Given the description of an element on the screen output the (x, y) to click on. 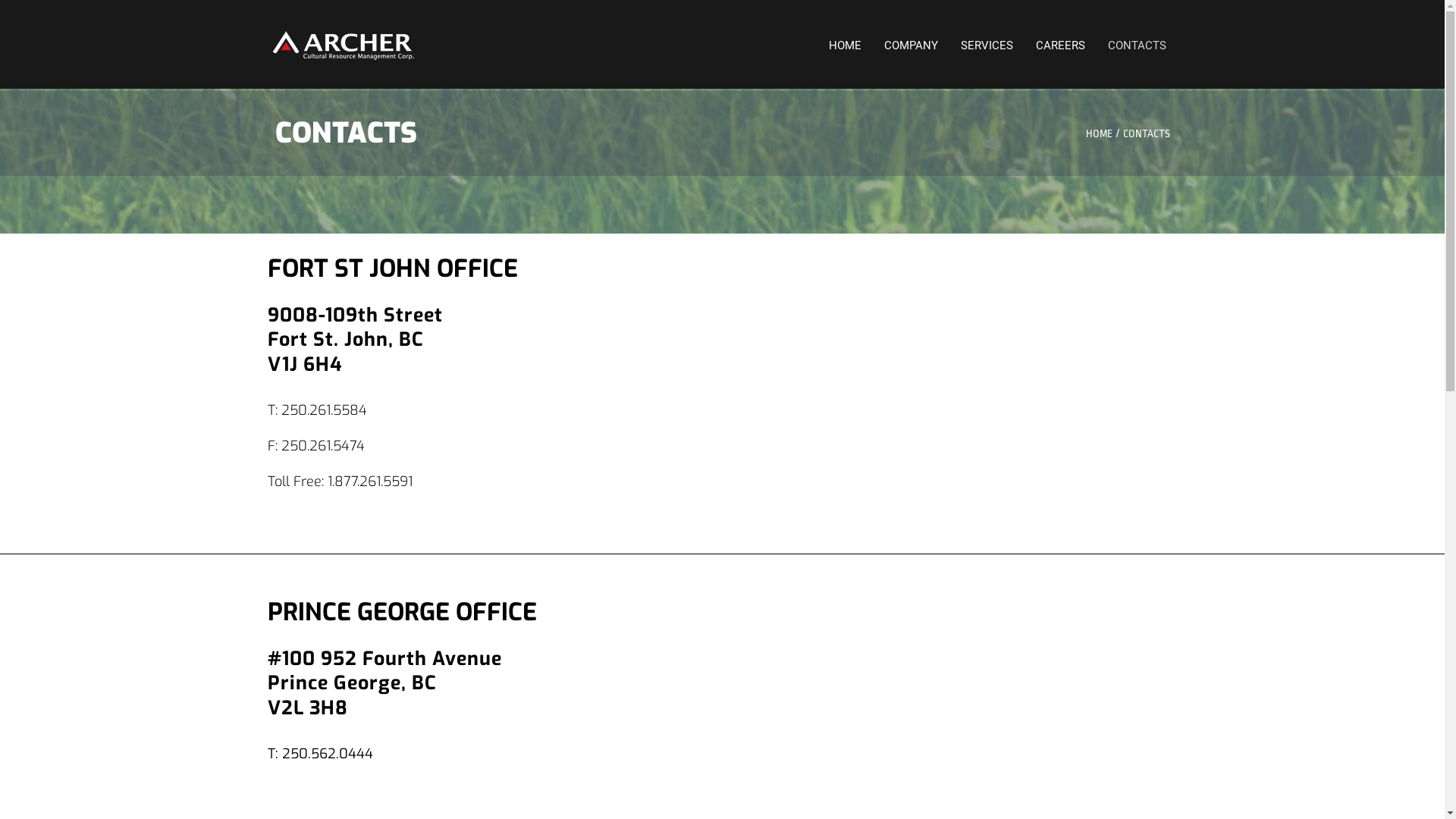
COMPANY Element type: text (910, 45)
SERVICES Element type: text (986, 45)
HOME Element type: text (844, 45)
CAREERS Element type: text (1059, 45)
CONTACTS Element type: text (1136, 45)
9008-109th Street Fort St. John, BC V1J 6H4 Element type: hover (949, 377)
HOME Element type: text (1098, 133)
